Given the description of an element on the screen output the (x, y) to click on. 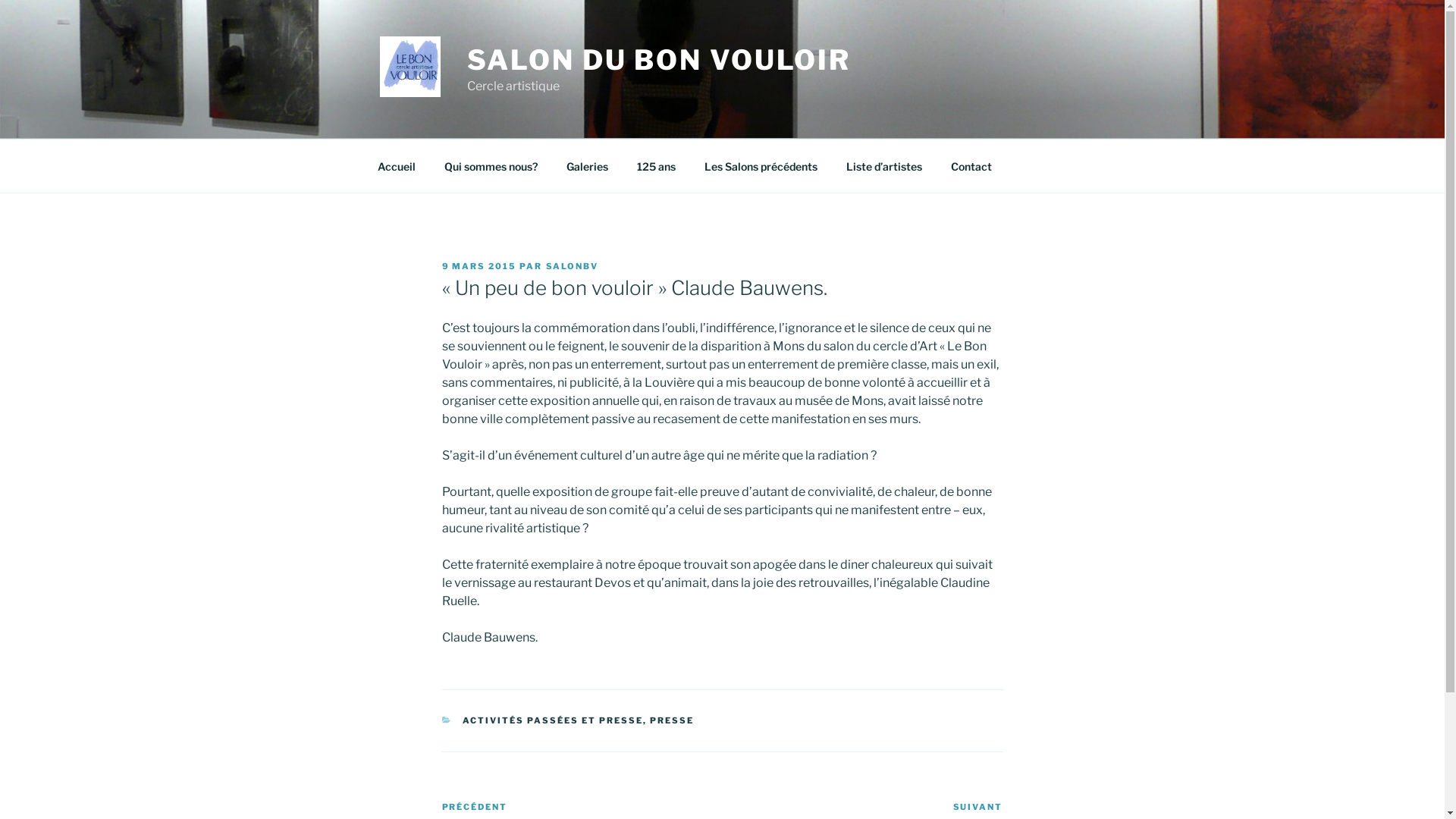
9 MARS 2015 Element type: text (478, 265)
SALON DU BON VOULOIR Element type: text (659, 59)
Galeries Element type: text (587, 165)
PRESSE Element type: text (671, 720)
Accueil Element type: text (396, 165)
125 ans Element type: text (655, 165)
SALONBV Element type: text (572, 265)
Qui sommes nous? Element type: text (490, 165)
Contact Element type: text (970, 165)
